Given the description of an element on the screen output the (x, y) to click on. 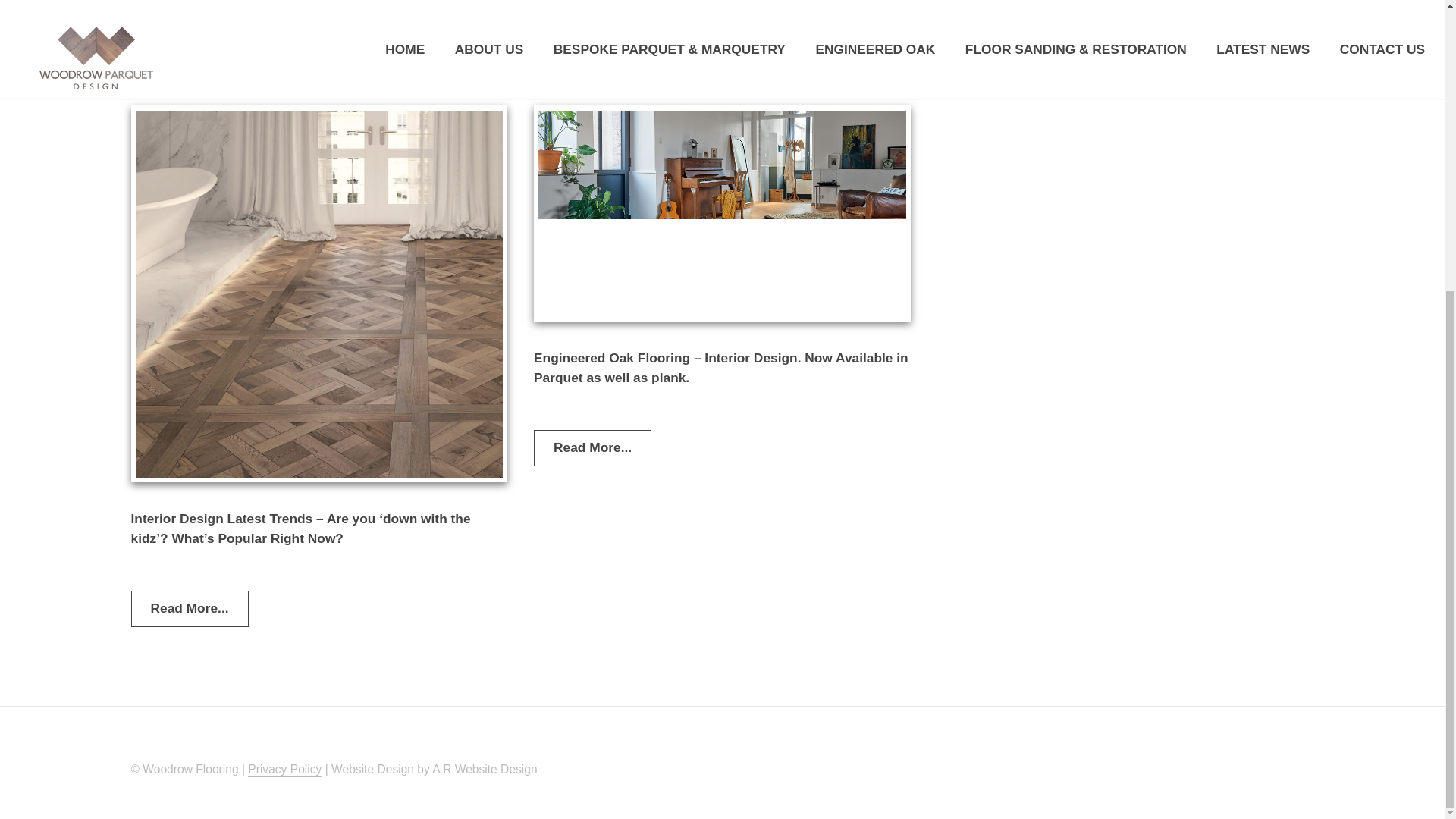
Read More... (592, 61)
Read More... (995, 36)
Privacy Policy (284, 769)
Read More... (189, 608)
Read More... (592, 447)
